Given the description of an element on the screen output the (x, y) to click on. 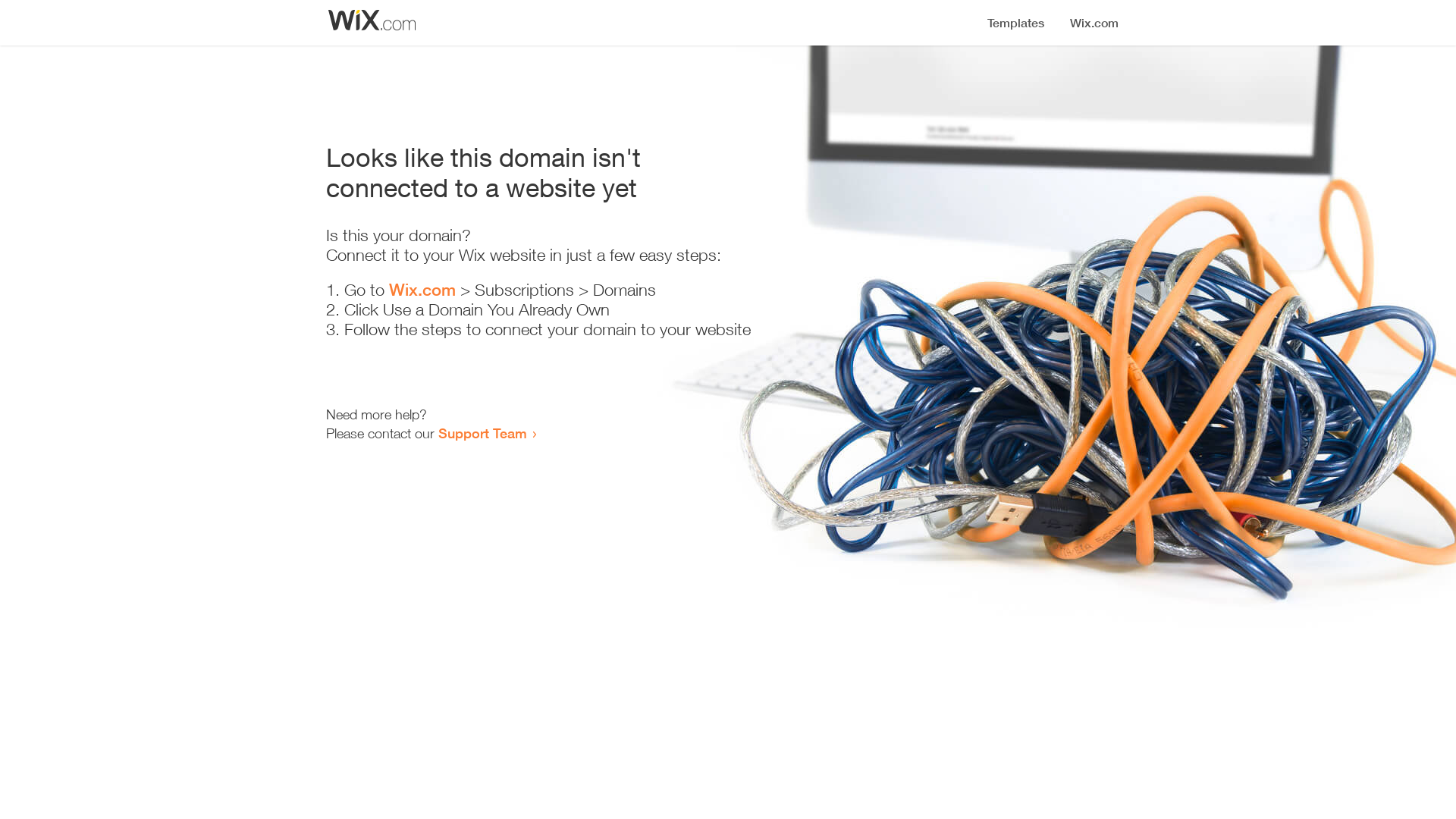
Wix.com Element type: text (422, 289)
Support Team Element type: text (482, 432)
